Given the description of an element on the screen output the (x, y) to click on. 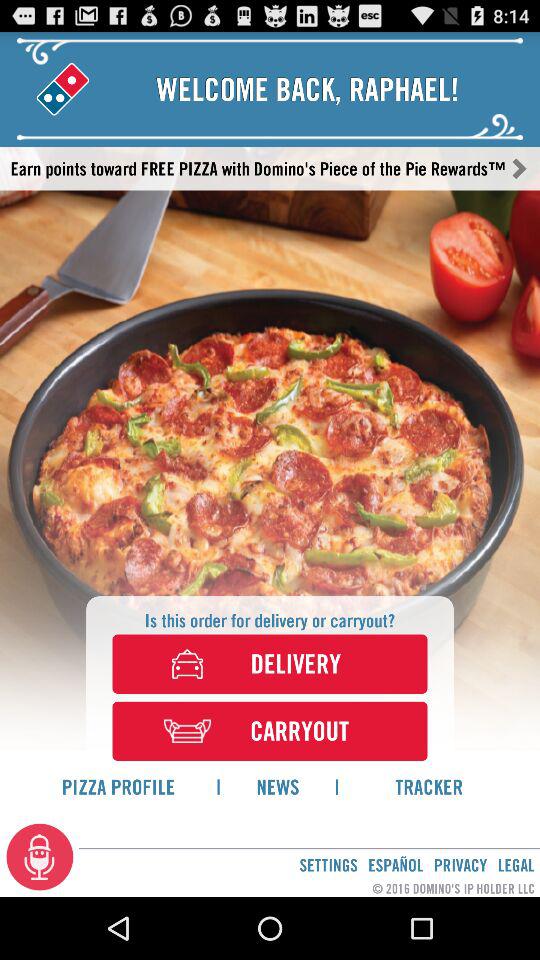
click pizza profile icon (118, 786)
